Given the description of an element on the screen output the (x, y) to click on. 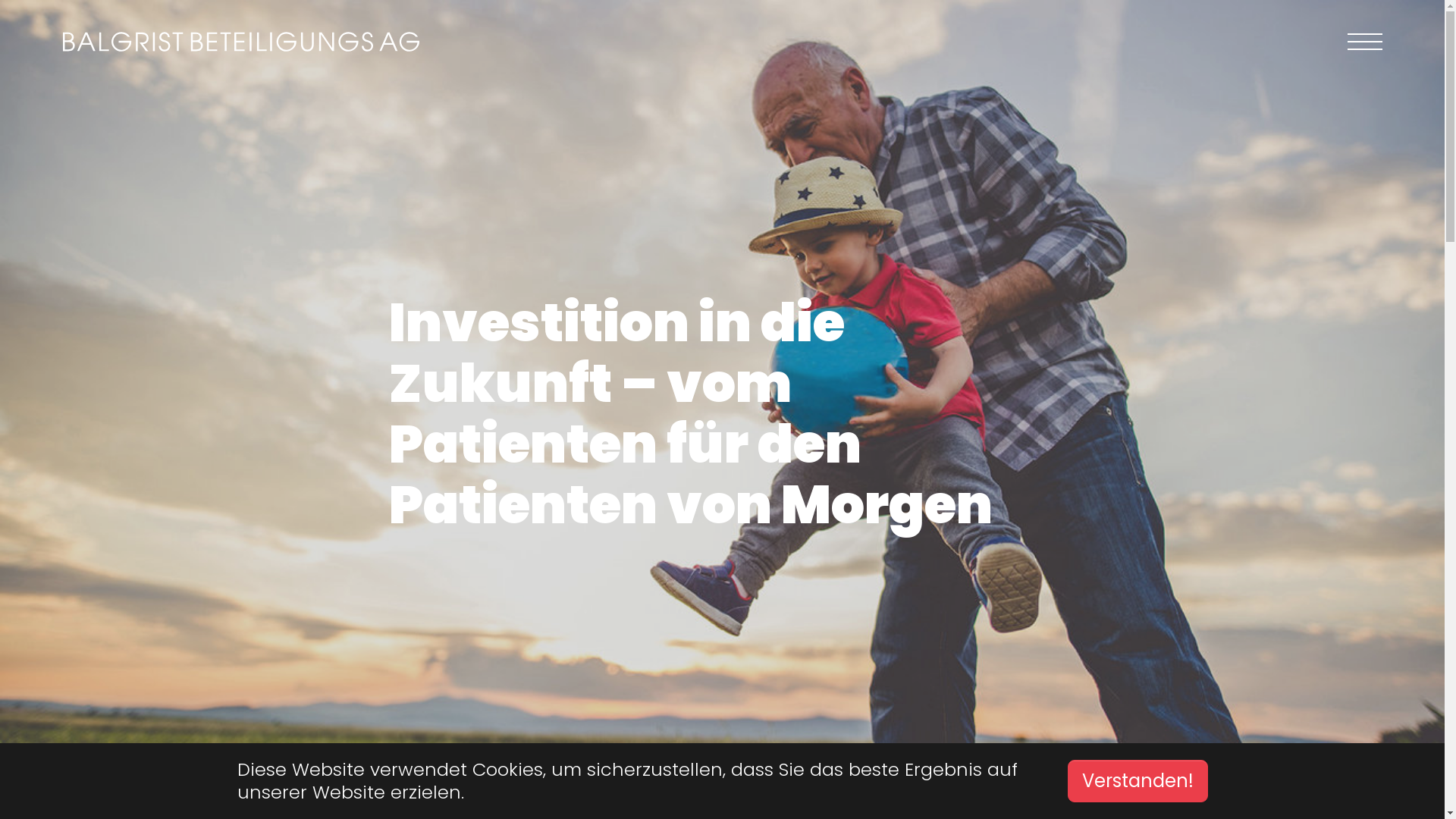
balgrist-beteiligungen Element type: hover (240, 41)
Verstanden! Element type: text (1137, 780)
